Given the description of an element on the screen output the (x, y) to click on. 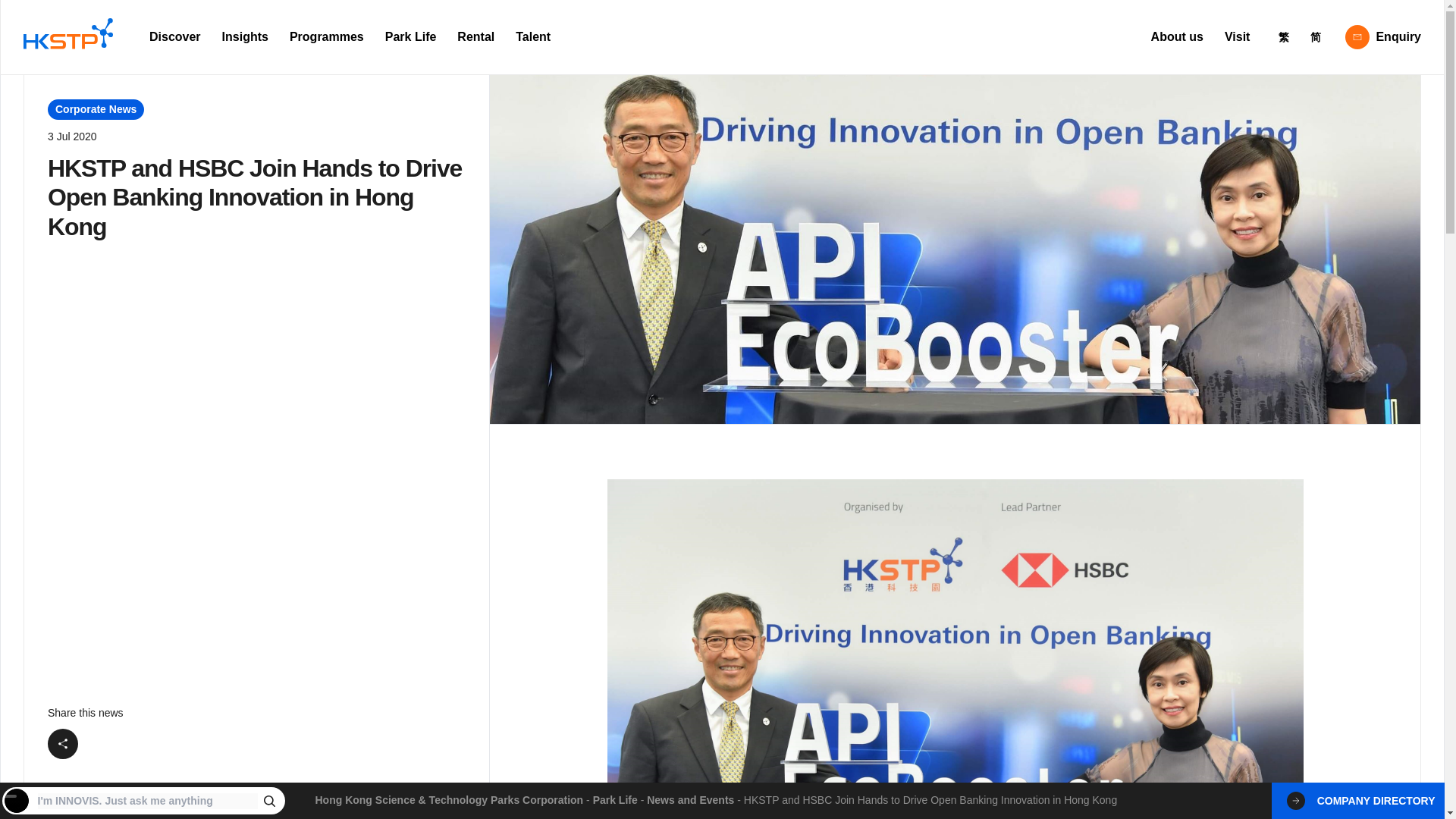
Park Life (614, 799)
Discover (174, 37)
News and Events (689, 799)
Park Life (410, 37)
Insights (245, 37)
Programmes (326, 37)
